Given the description of an element on the screen output the (x, y) to click on. 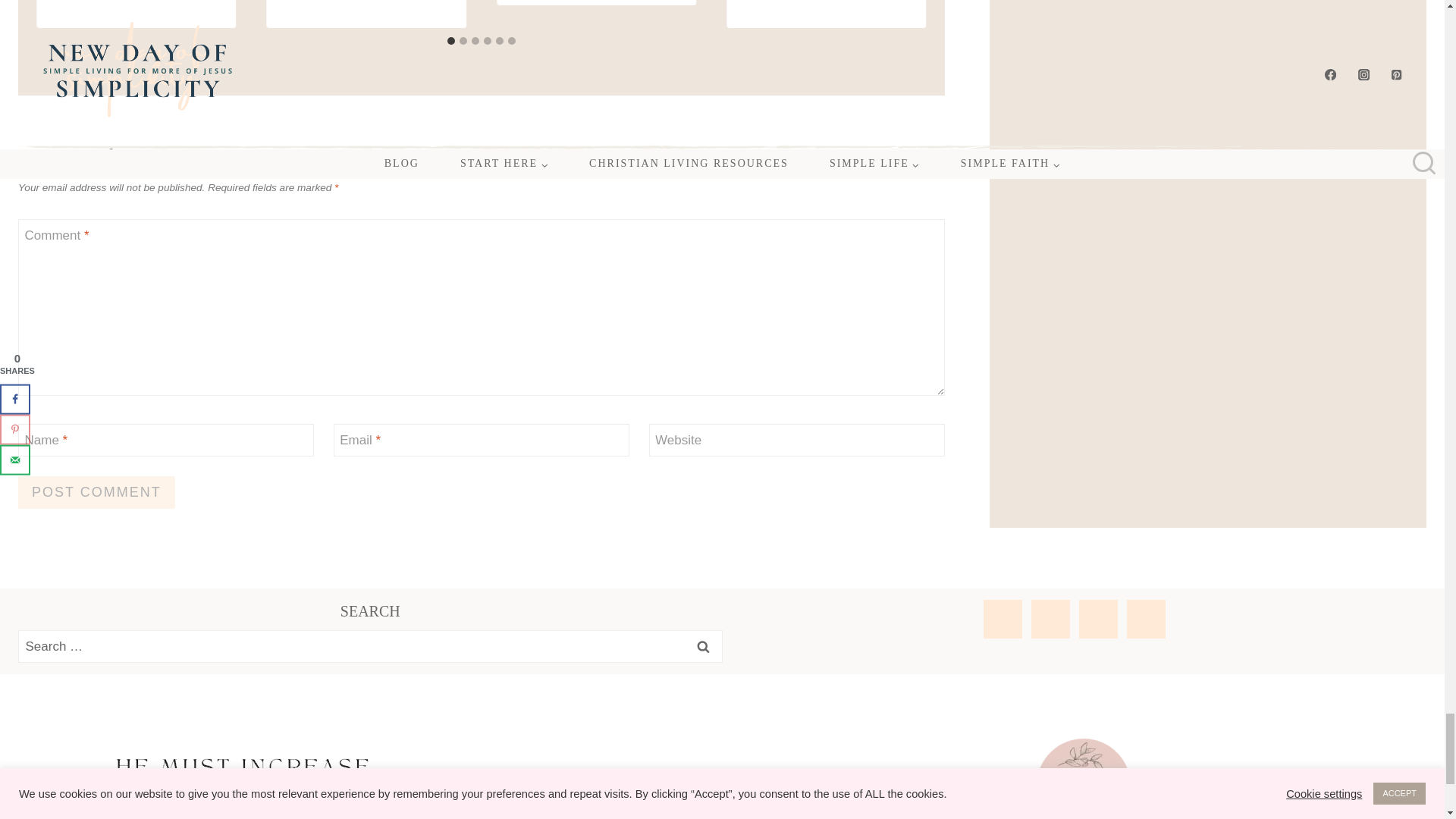
Search (703, 645)
Search (703, 645)
Post Comment (95, 491)
